Given the description of an element on the screen output the (x, y) to click on. 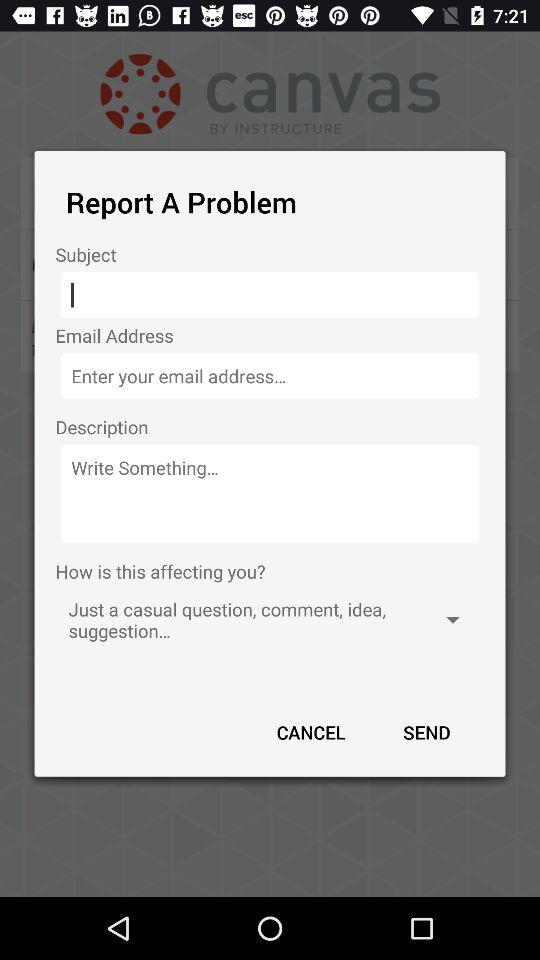
open the app below just a casual app (426, 732)
